Given the description of an element on the screen output the (x, y) to click on. 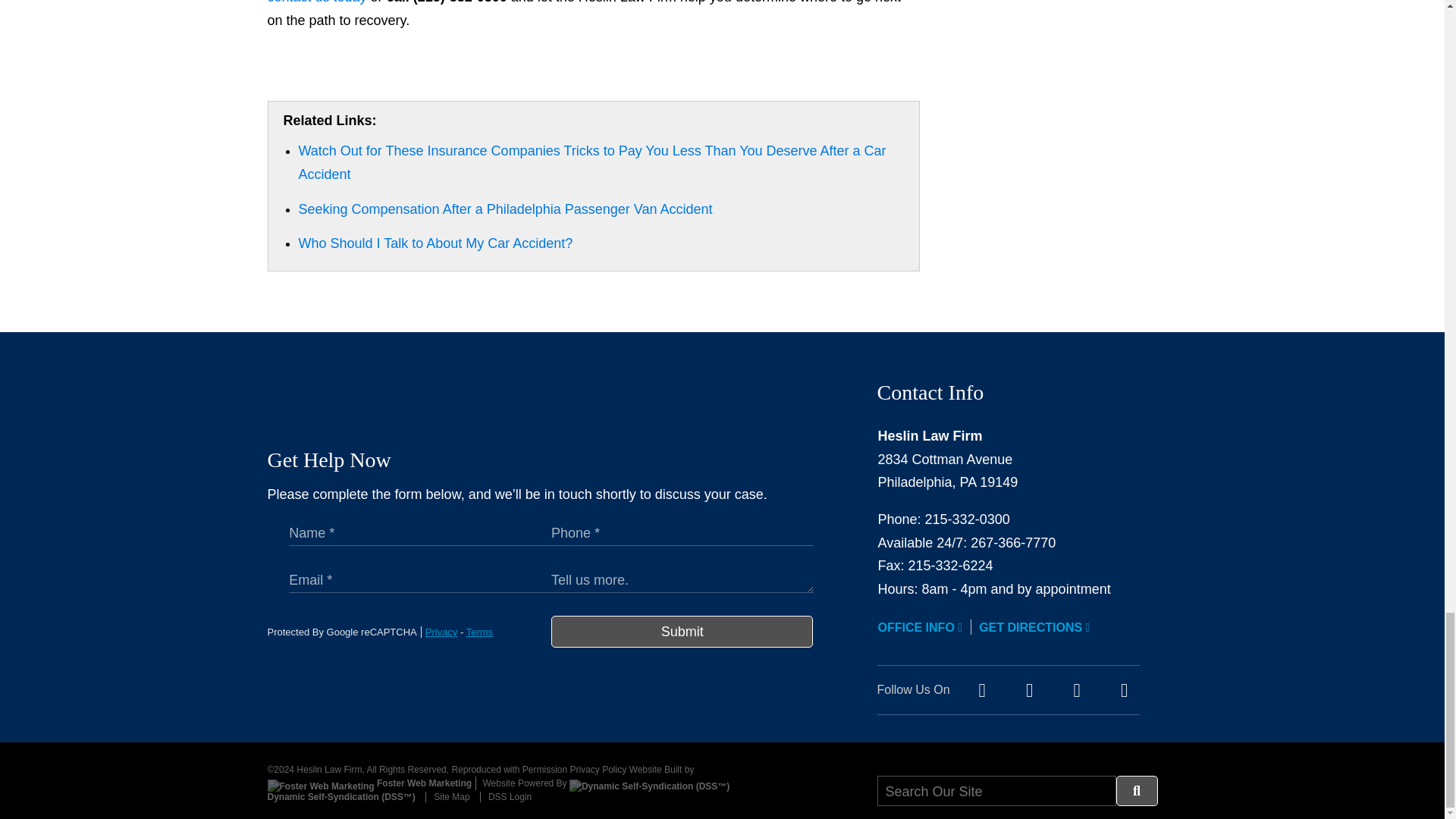
Search (1136, 790)
YouTube (1076, 690)
RSS Feed (1123, 690)
Facebook (981, 690)
Twitter (1029, 690)
